Given the description of an element on the screen output the (x, y) to click on. 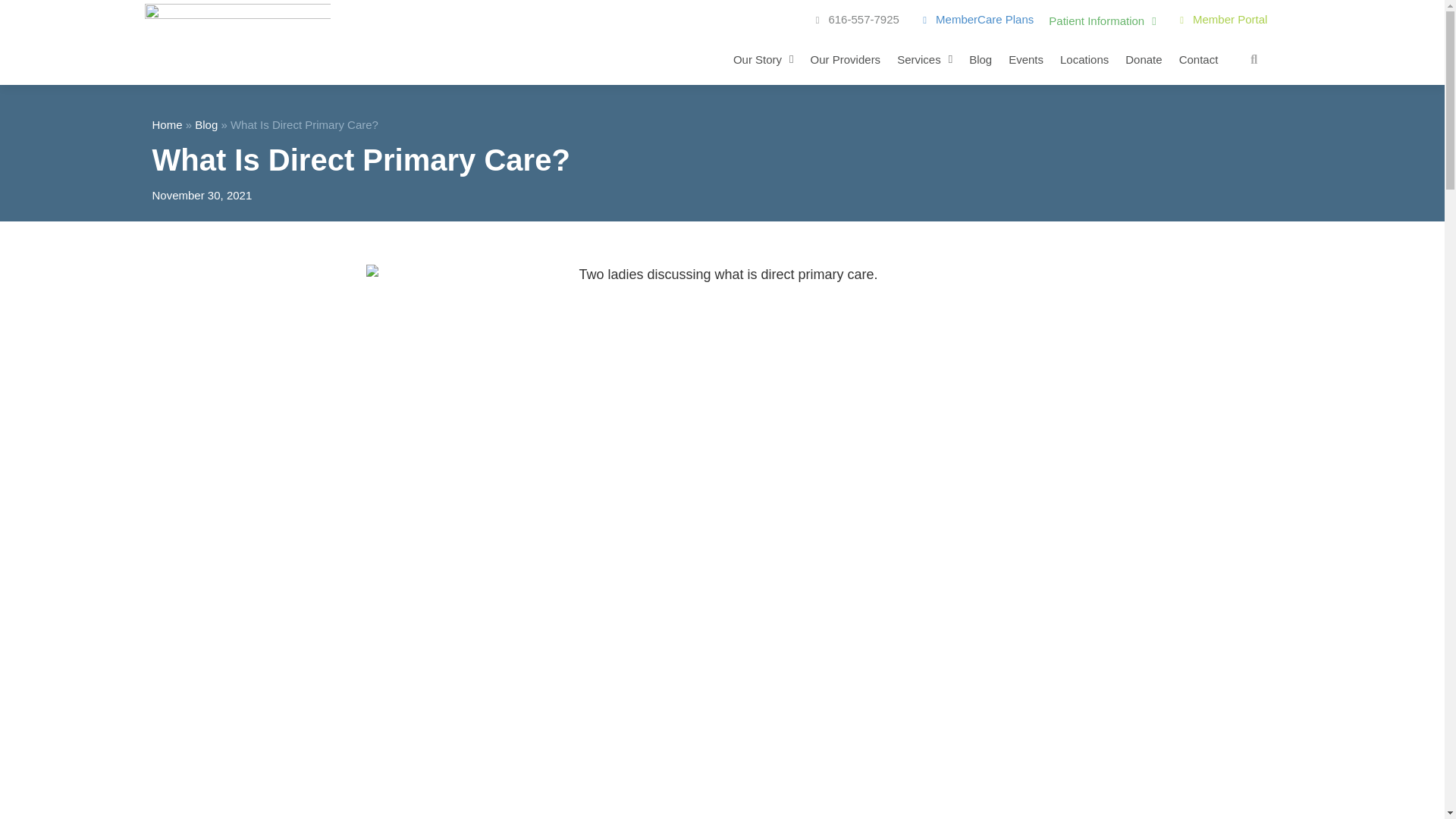
Member Portal (1220, 19)
616-557-7925 (852, 19)
Our Providers (845, 59)
Blog (980, 59)
Patient Information (1102, 21)
Services (924, 59)
MemberCare Plans (973, 19)
Donate (1143, 59)
Contact (1198, 59)
Our Story (763, 59)
Events (1026, 59)
Locations (1083, 59)
